Given the description of an element on the screen output the (x, y) to click on. 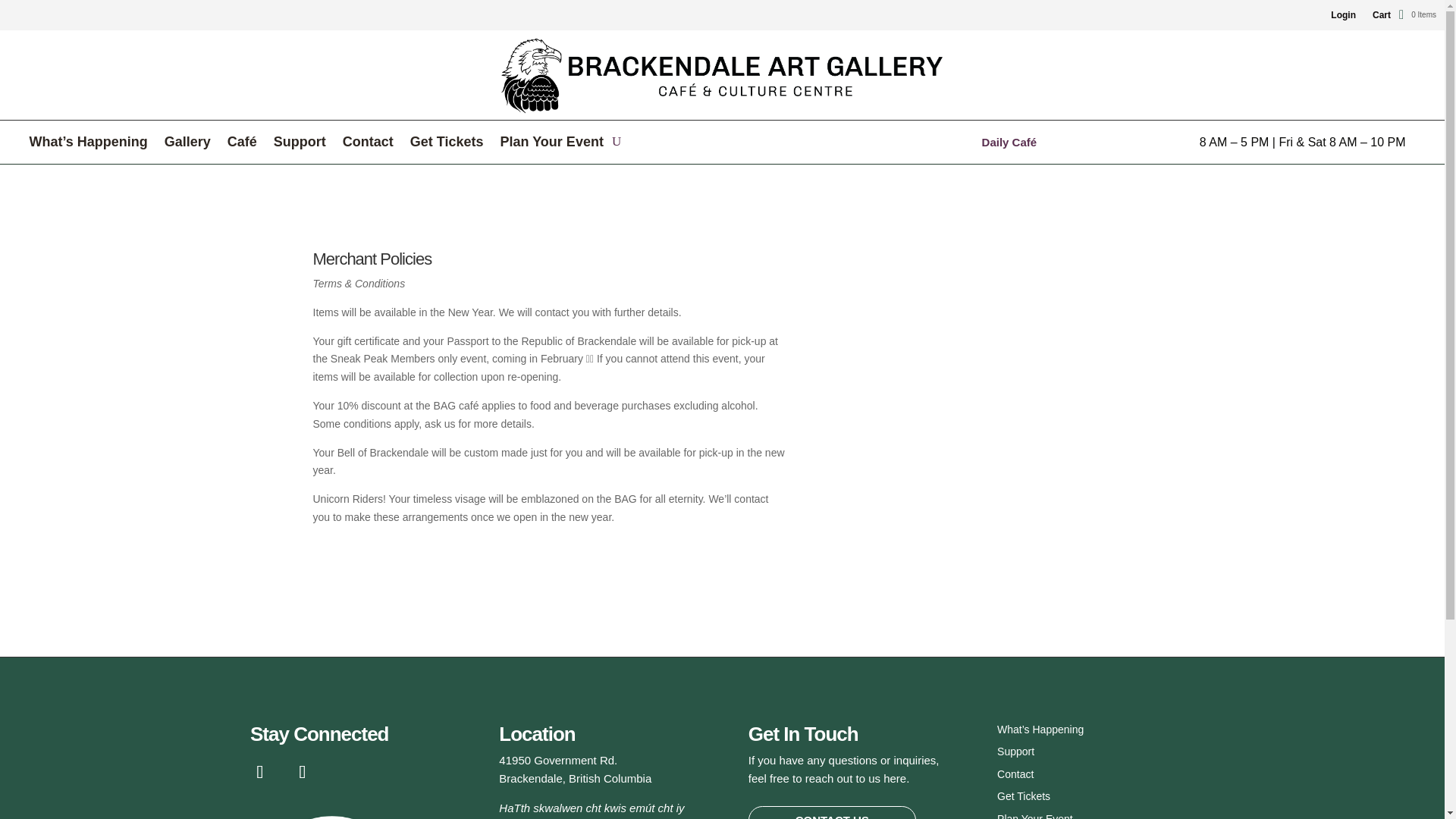
Follow on Instagram (301, 771)
Follow on Facebook (259, 771)
0 Items (1417, 14)
Plan Your Event (552, 142)
BAG-logo-working (722, 77)
Support (299, 142)
Contact (367, 142)
Login (1342, 15)
BAG-logo-round-tom-white (335, 814)
Cart (1381, 15)
